Given the description of an element on the screen output the (x, y) to click on. 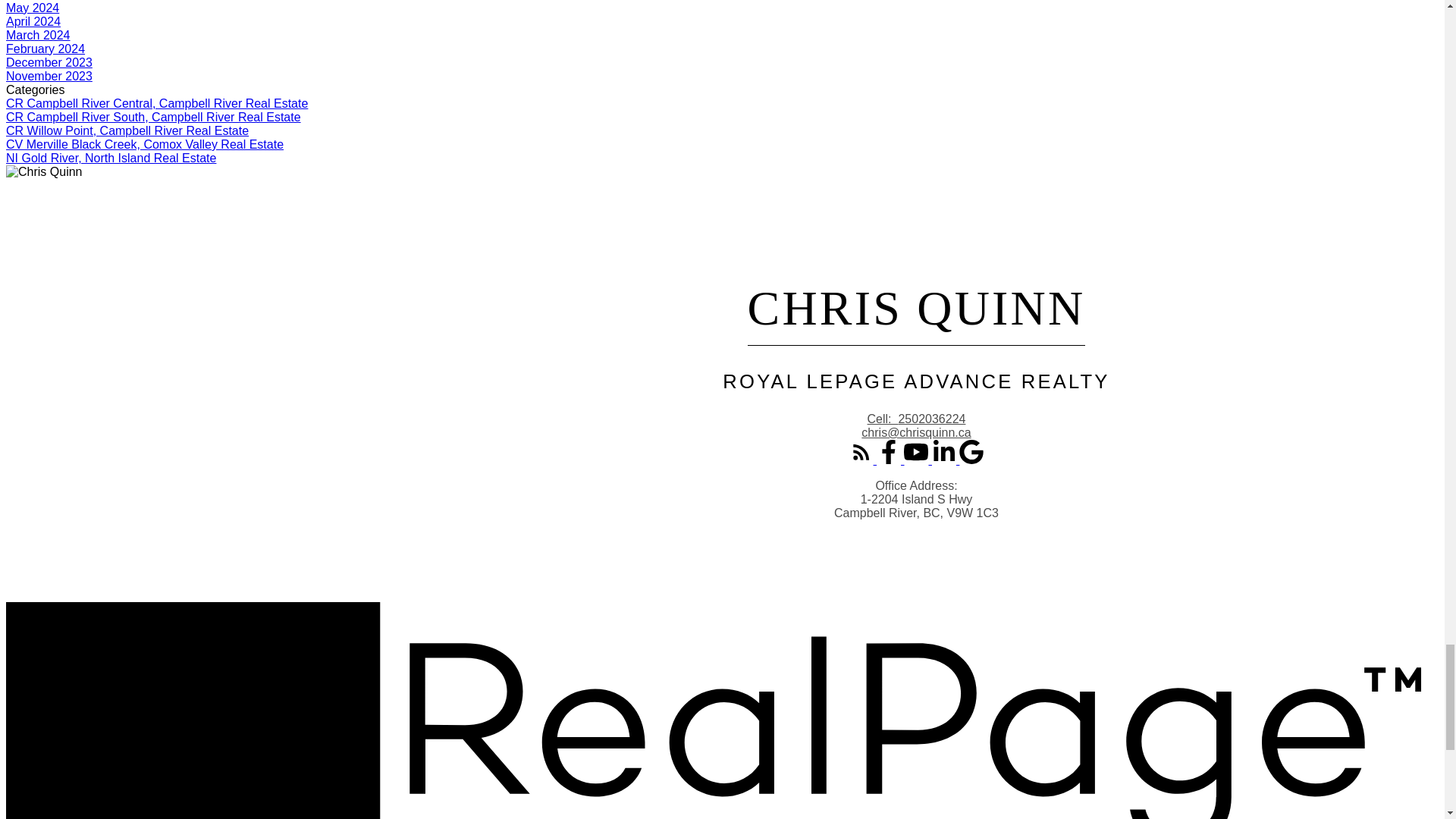
December 2023 (49, 62)
May 2024 (32, 7)
February 2024 (44, 48)
June 2024 (33, 0)
April 2024 (33, 21)
November 2023 (49, 75)
March 2024 (37, 34)
